Given the description of an element on the screen output the (x, y) to click on. 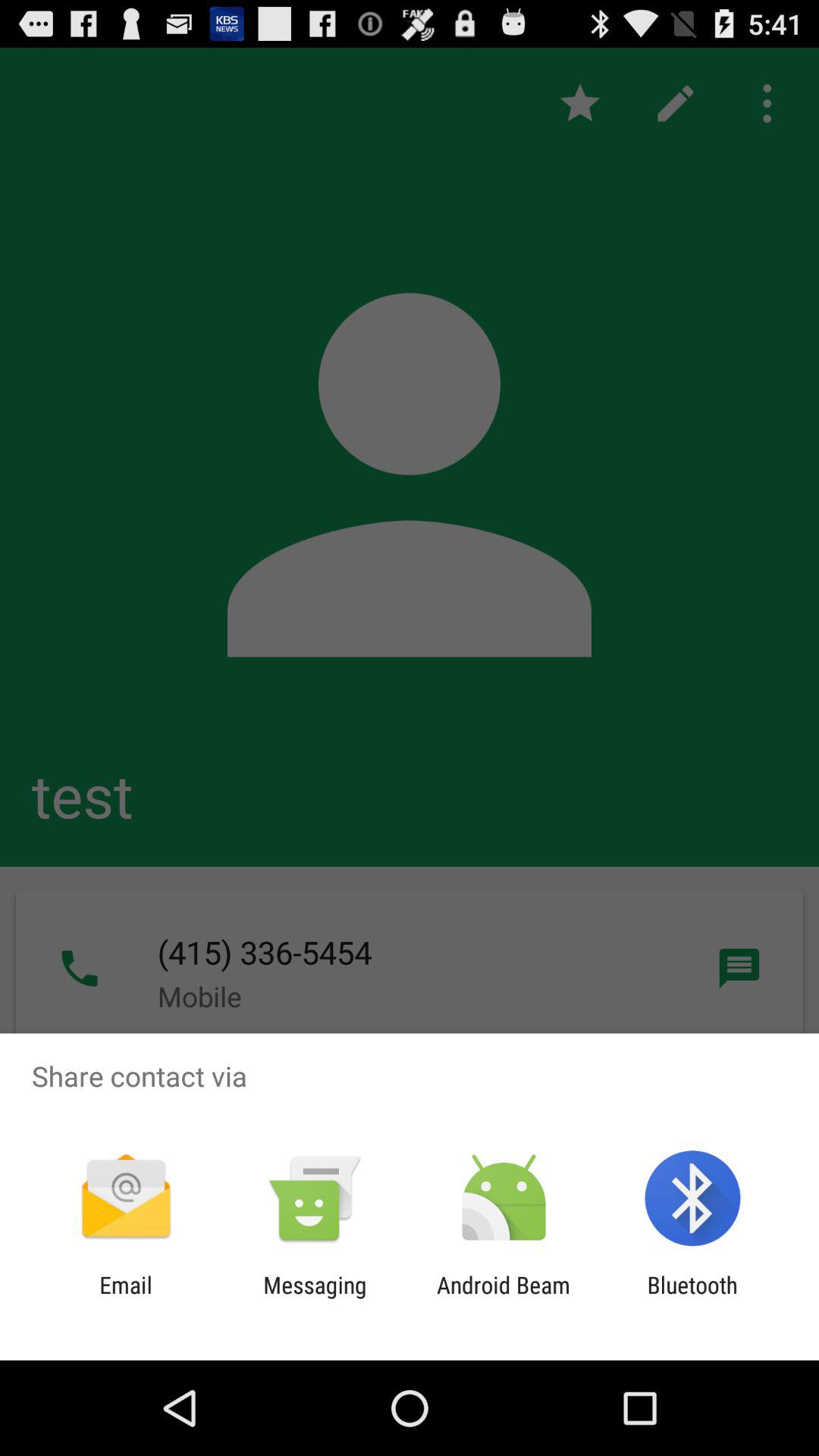
select icon to the left of the bluetooth app (503, 1298)
